Given the description of an element on the screen output the (x, y) to click on. 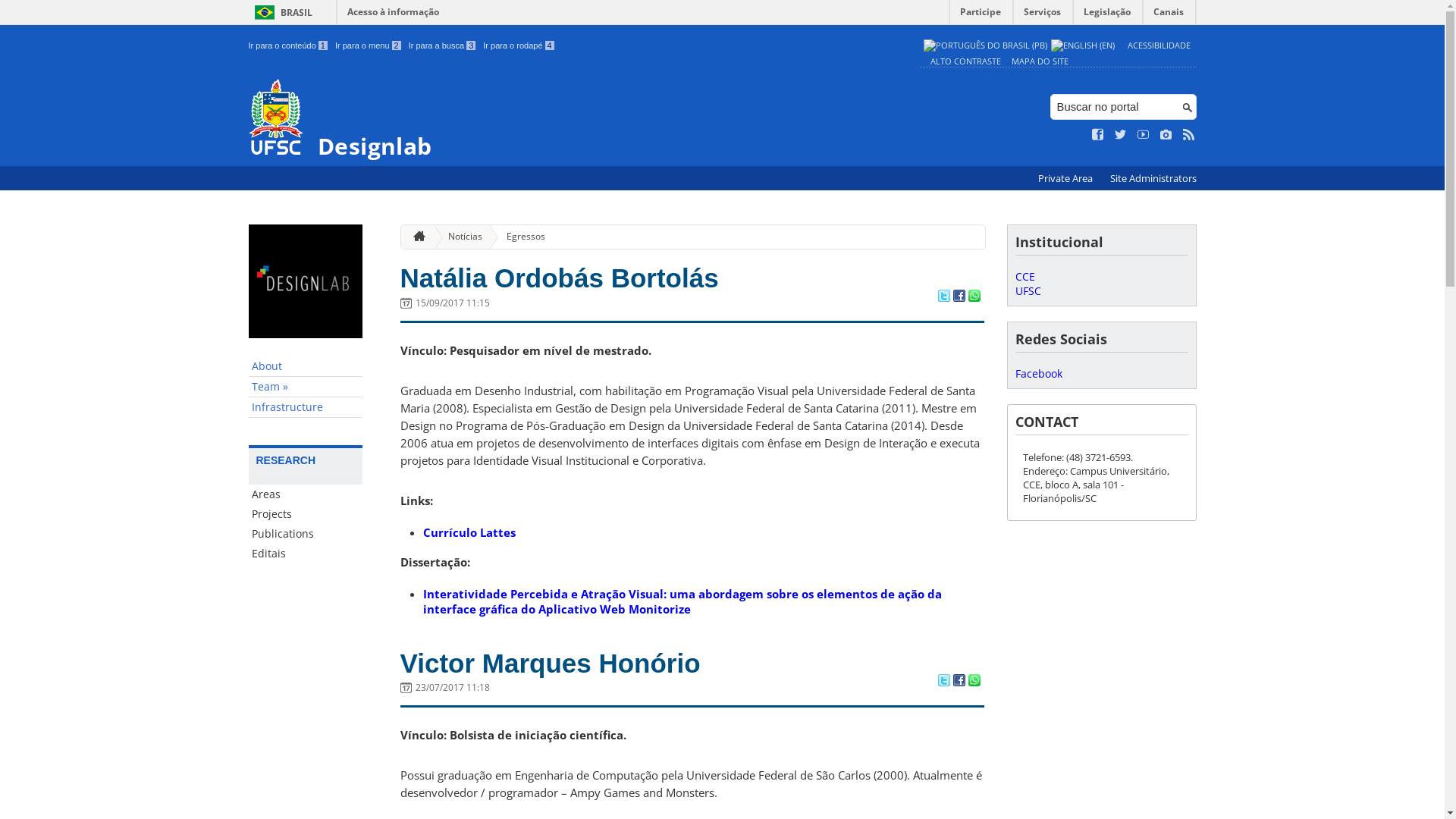
CCE Element type: text (1024, 276)
Private Area Element type: text (1065, 178)
Projects Element type: text (305, 514)
BRASIL Element type: text (280, 12)
Egressos Element type: text (519, 236)
Compartilhar no WhatsApp Element type: hover (973, 296)
Publications Element type: text (305, 533)
Infrastructure Element type: text (305, 407)
Editais Element type: text (305, 553)
MAPA DO SITE Element type: text (1039, 60)
Compartilhar no Twitter Element type: hover (943, 296)
Compartilhar no Facebook Element type: hover (958, 681)
Compartilhar no WhatsApp Element type: hover (973, 681)
Canais Element type: text (1169, 15)
ALTO CONTRASTE Element type: text (964, 60)
English (en) Element type: hover (1082, 44)
Ir para a busca 3 Element type: text (442, 45)
Veja no Instagram Element type: hover (1166, 134)
Curta no Facebook Element type: hover (1098, 134)
About Element type: text (305, 366)
ACESSIBILIDADE Element type: text (1158, 44)
Designlab Element type: text (580, 118)
Participe Element type: text (980, 15)
Site Administrators Element type: text (1153, 178)
Siga no Twitter Element type: hover (1120, 134)
Ir para o menu 2 Element type: text (368, 45)
Areas Element type: text (305, 494)
Compartilhar no Twitter Element type: hover (943, 681)
Compartilhar no Facebook Element type: hover (958, 296)
UFSC Element type: text (1027, 290)
Facebook Element type: text (1037, 373)
